Given the description of an element on the screen output the (x, y) to click on. 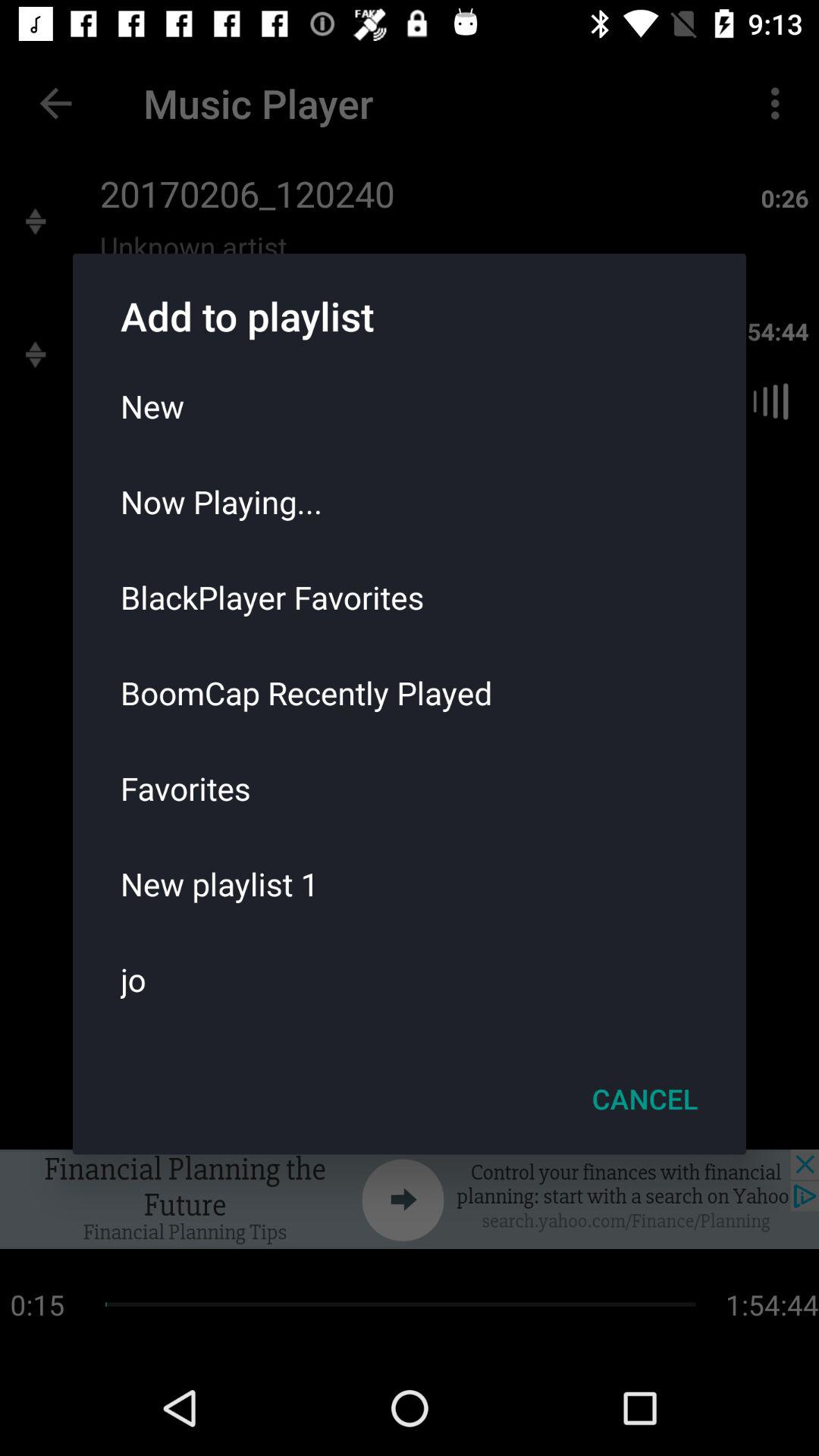
jump until cancel icon (645, 1098)
